Given the description of an element on the screen output the (x, y) to click on. 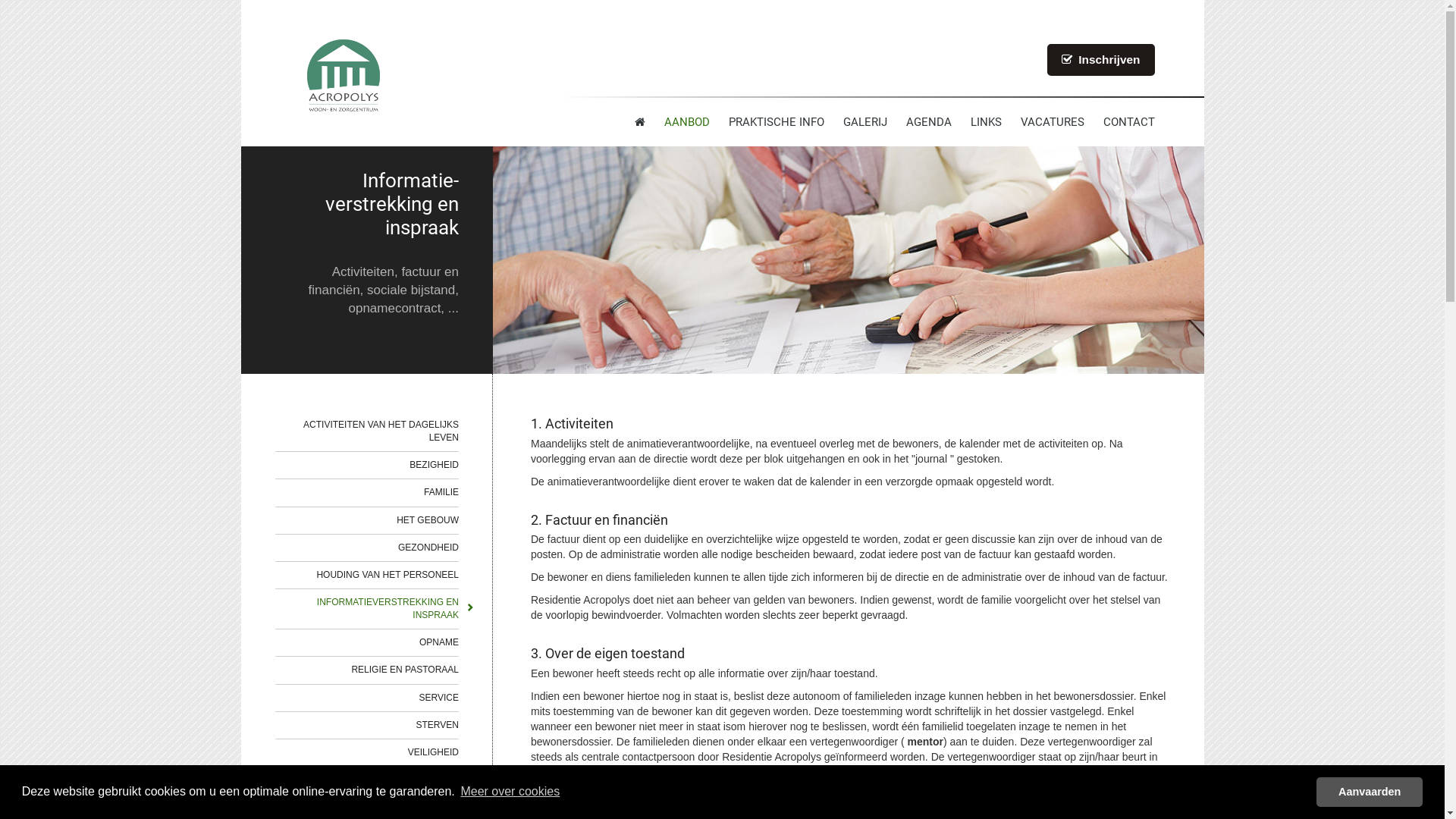
STERVEN Element type: text (366, 725)
FAMILIE Element type: text (366, 492)
GALERIJ Element type: text (865, 121)
AGENDA Element type: text (927, 121)
VERZORGING Element type: text (366, 779)
PRAKTISCHE INFO Element type: text (775, 121)
VEILIGHEID Element type: text (366, 752)
OPNAME Element type: text (366, 642)
BEZIGHEID Element type: text (366, 464)
RELIGIE EN PASTORAAL Element type: text (366, 669)
HET GEBOUW Element type: text (366, 520)
INFORMATIEVERSTREKKING EN INSPRAAK Element type: text (366, 608)
Meer over cookies Element type: text (509, 791)
LINKS Element type: text (985, 121)
Aanvaarden Element type: text (1369, 791)
HOUDING VAN HET PERSONEEL Element type: text (366, 574)
  Inschrijven Element type: text (1100, 59)
AANBOD Element type: text (686, 121)
CONTACT Element type: text (1128, 121)
ACTIVITEITEN VAN HET DAGELIJKS LEVEN Element type: text (366, 431)
VACATURES Element type: text (1052, 121)
SERVICE Element type: text (366, 697)
GEZONDHEID Element type: text (366, 547)
